Given the description of an element on the screen output the (x, y) to click on. 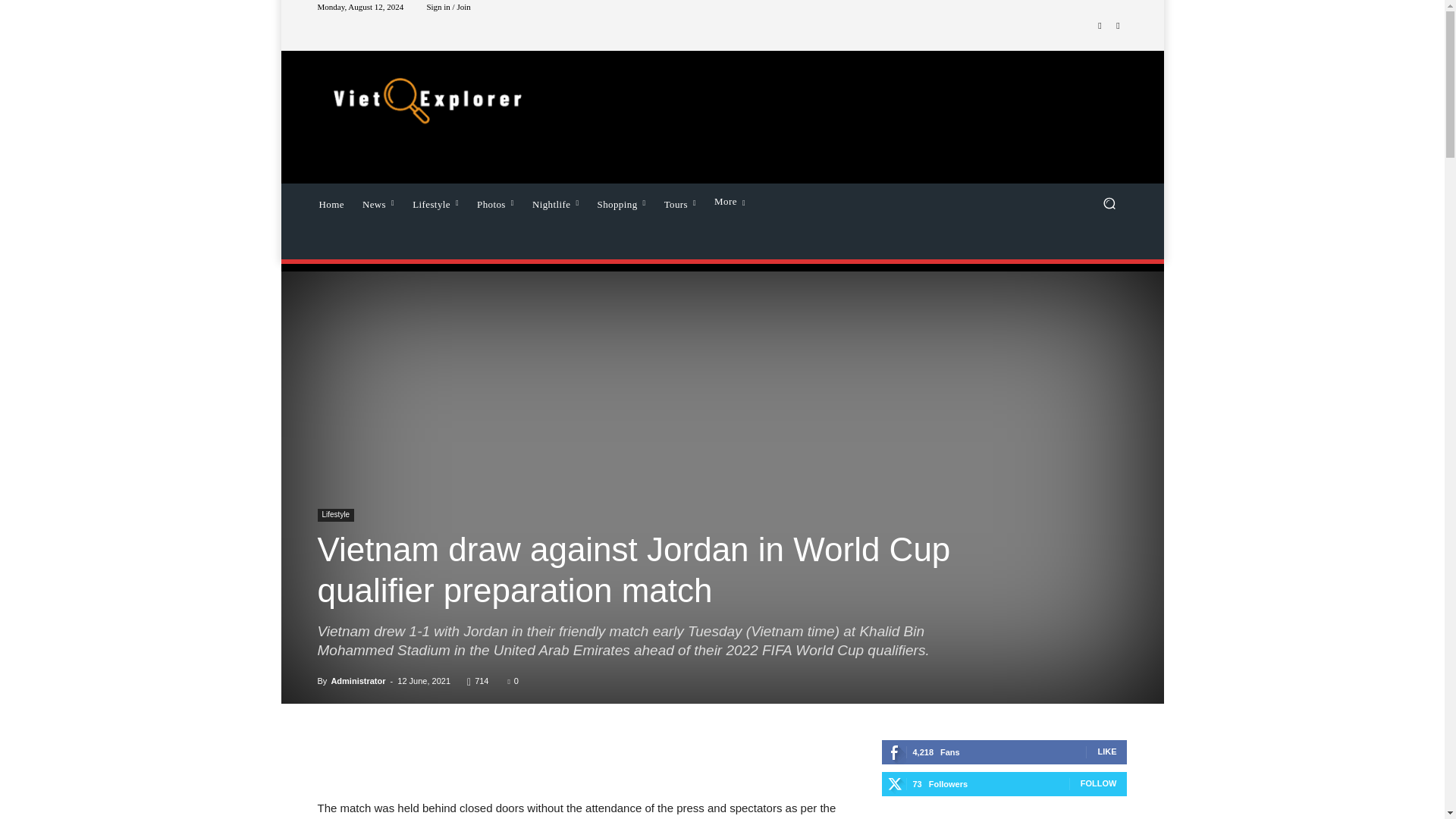
News (378, 202)
Twitter (1117, 25)
Lifestyle (435, 202)
Home (330, 202)
Facebook (1099, 25)
